Given the description of an element on the screen output the (x, y) to click on. 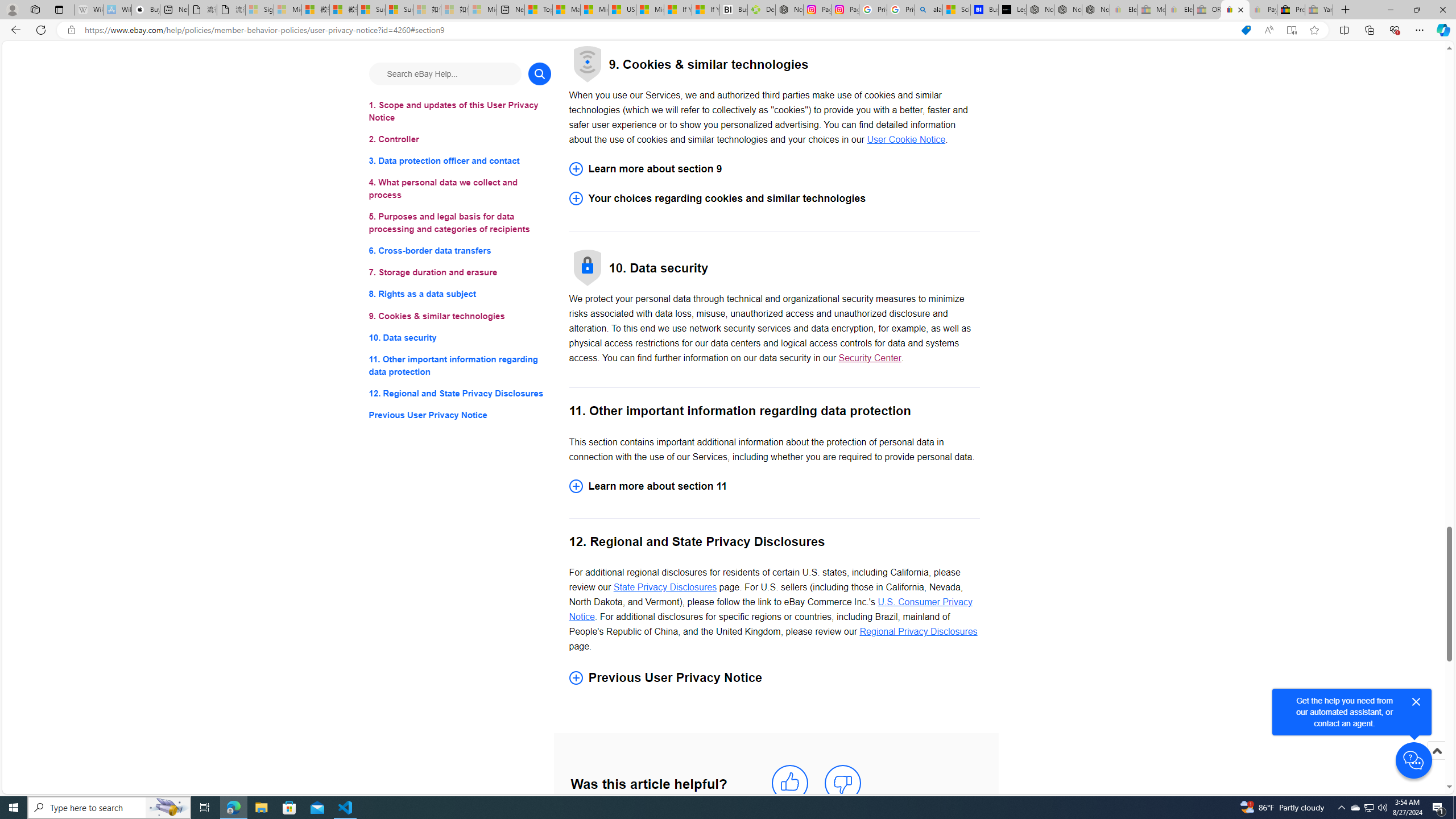
8. Rights as a data subject (459, 293)
3. Data protection officer and contact (459, 160)
10. Data security (459, 336)
